Given the description of an element on the screen output the (x, y) to click on. 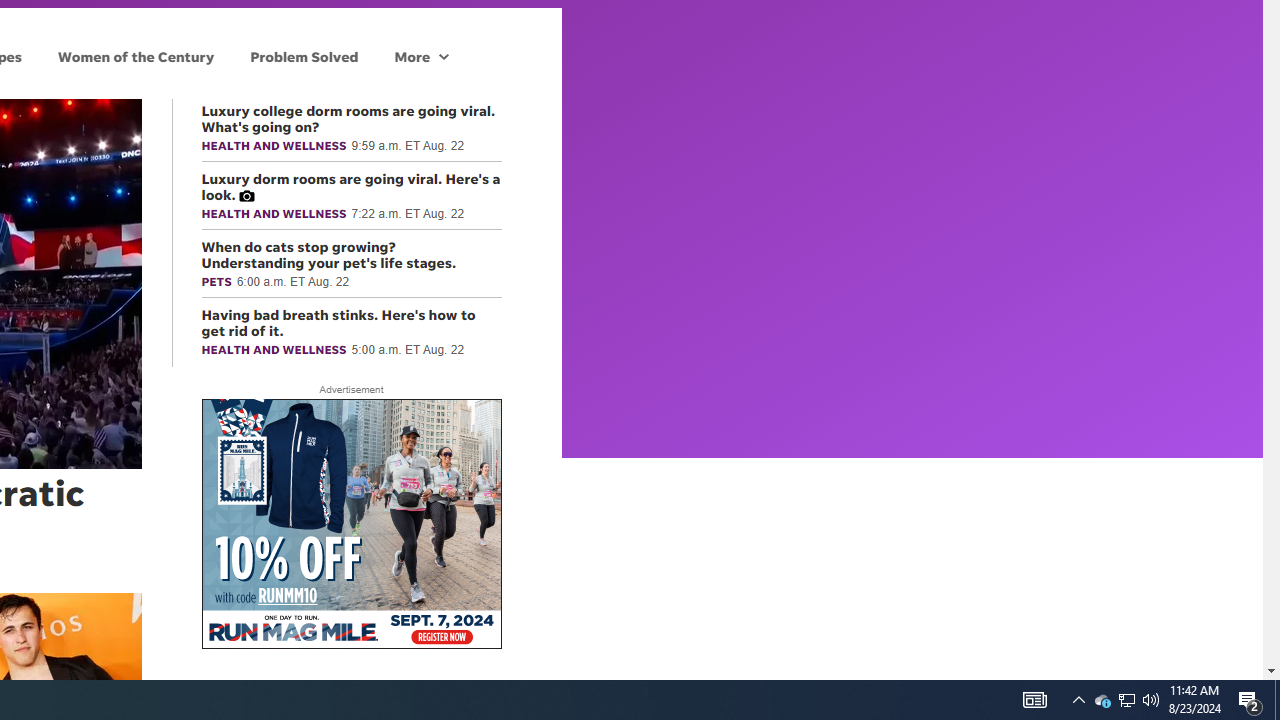
More life navigation (1126, 699)
Problem Solved (421, 56)
Notification Chevron (304, 56)
AutomationID: 4105 (1078, 699)
Q2790: 100% (1034, 699)
User Promoted Notification Area (1151, 699)
Show desktop (1126, 699)
Action Center, 2 new notifications (1277, 699)
